Given the description of an element on the screen output the (x, y) to click on. 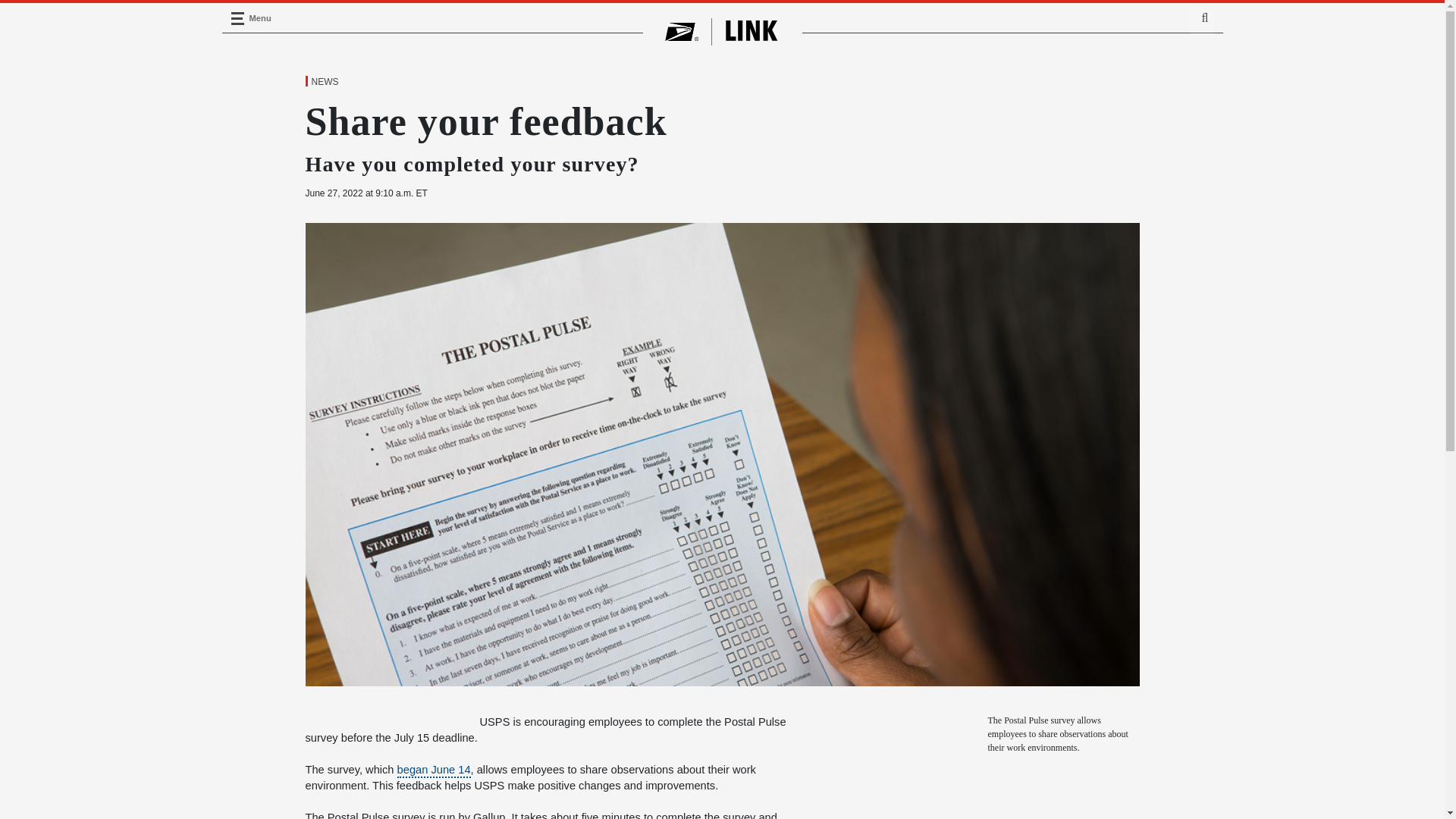
Menu (237, 18)
began June 14 (433, 769)
NEWS (323, 81)
